Given the description of an element on the screen output the (x, y) to click on. 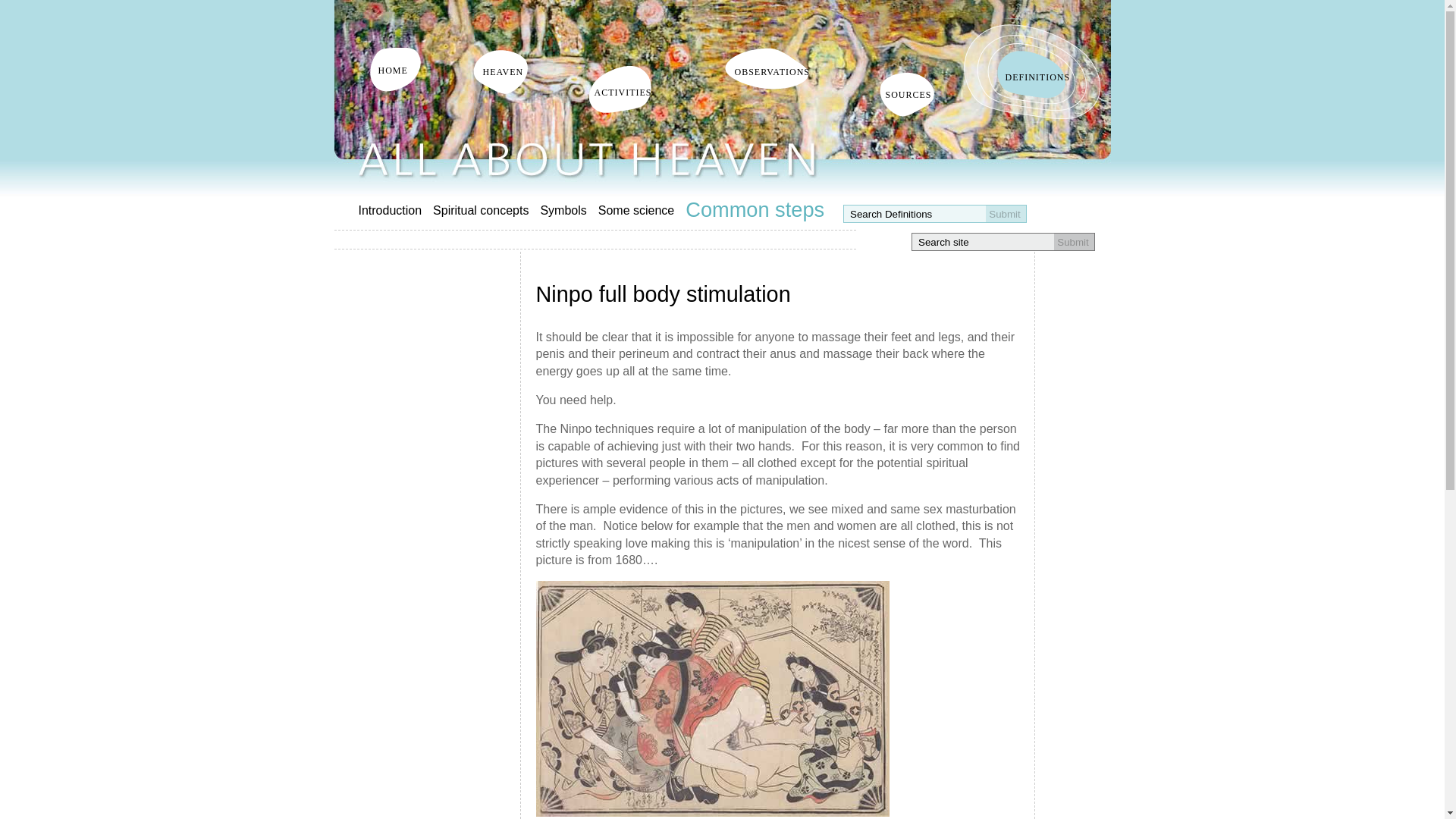
Introduction (395, 210)
Search Definitions (911, 214)
Submit (1074, 241)
Submit (1074, 241)
Search Definitions (911, 214)
Search site (979, 242)
Submit (1005, 213)
Submit (1005, 213)
Common steps (760, 209)
Symbols (568, 210)
Submit (1074, 241)
Search site (979, 242)
Submit (1005, 213)
Spiritual concepts (486, 210)
Some science (641, 210)
